Given the description of an element on the screen output the (x, y) to click on. 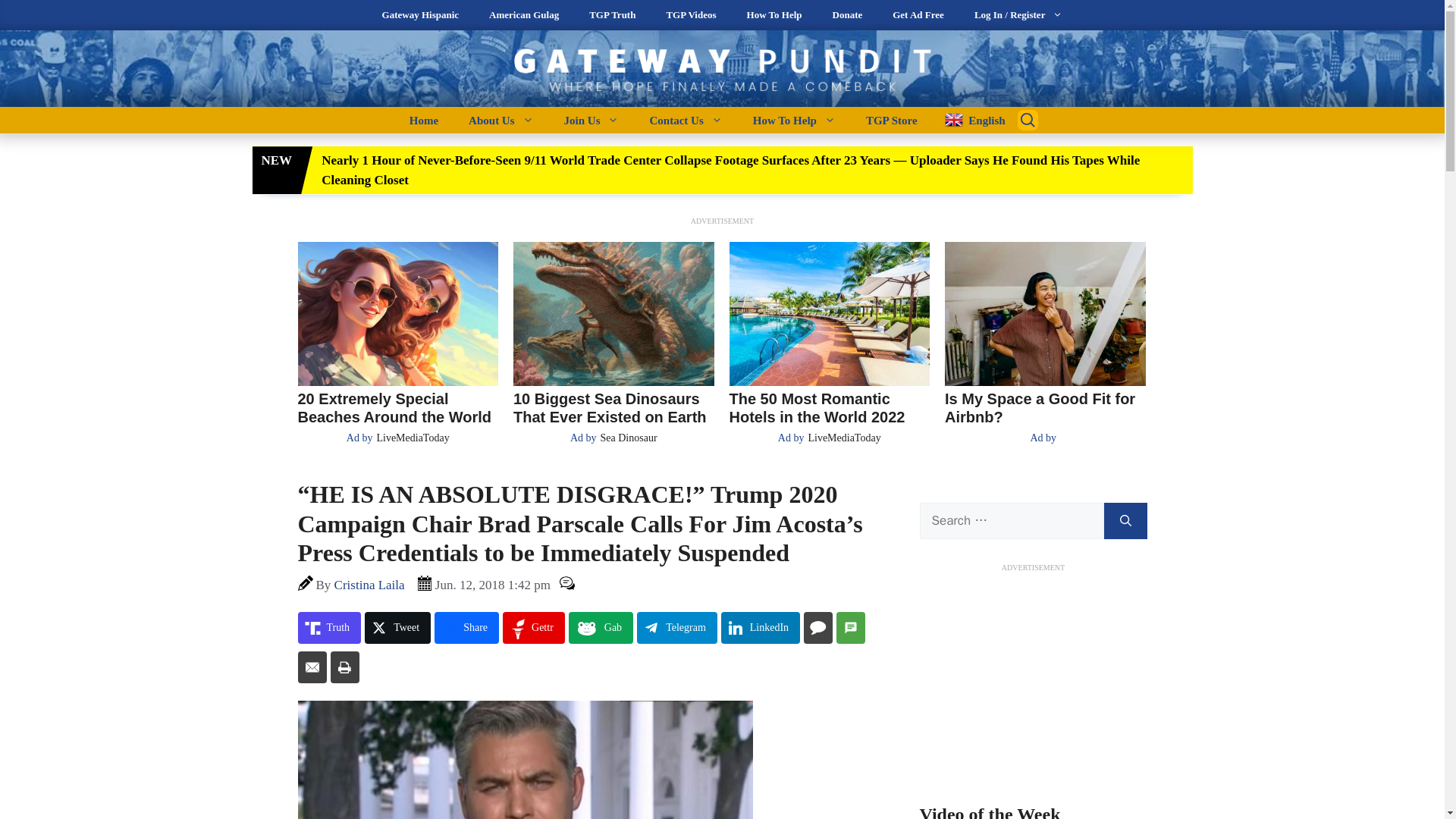
Share on Tweet (397, 627)
View all posts by Cristina Laila (369, 585)
Gateway Hispanic (420, 15)
Join Us (591, 120)
Donate (846, 15)
TGP Truth (611, 15)
Share on Share (466, 627)
Share on Truth (329, 627)
Get Ad Free (918, 15)
About Us (500, 120)
TGP Store (891, 120)
Share on LinkedIn (759, 627)
TGP Videos (690, 15)
